Given the description of an element on the screen output the (x, y) to click on. 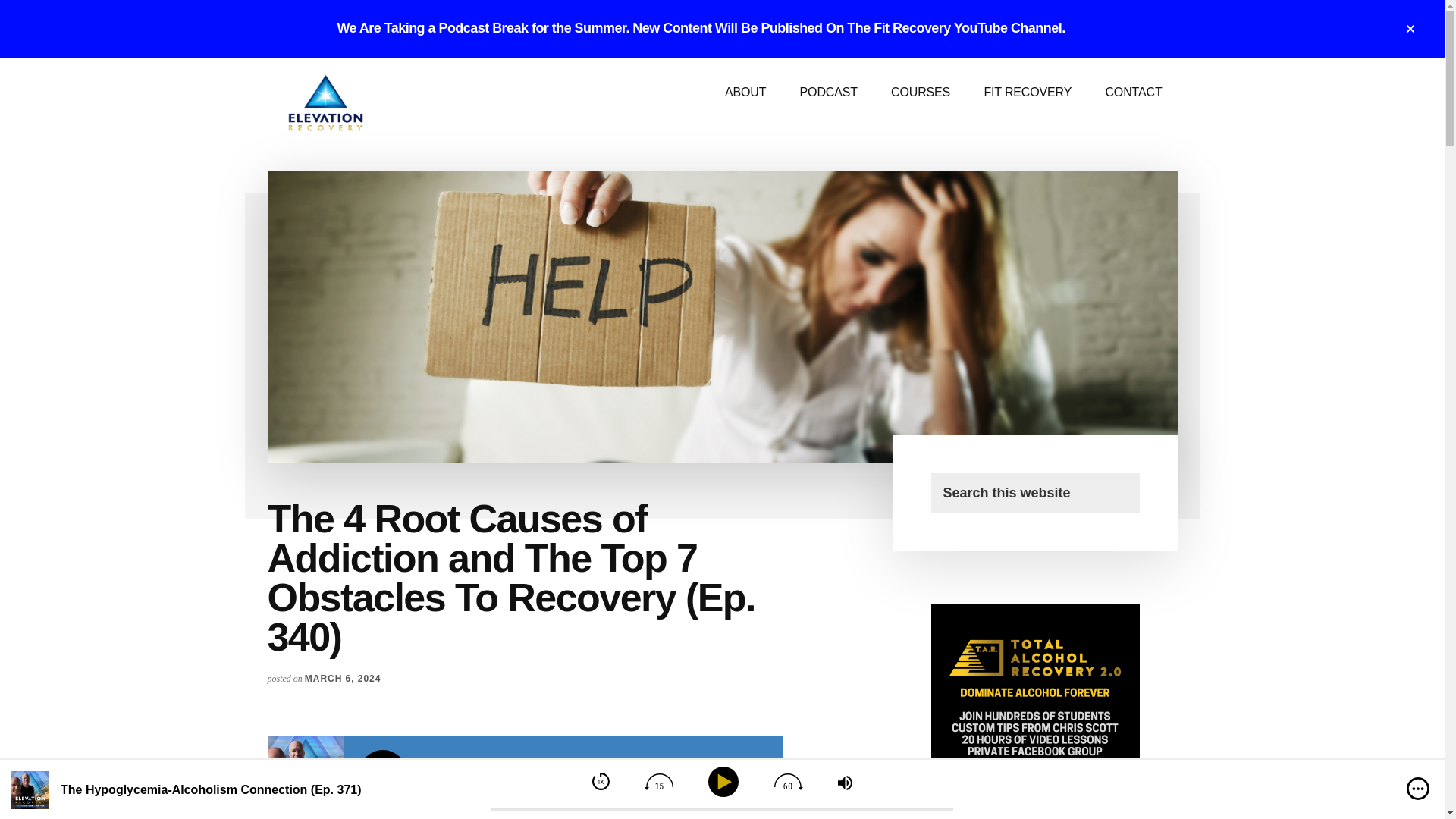
Speed: Normal (601, 781)
ABOUT (745, 92)
PODCAST (828, 92)
Download (726, 777)
More (754, 776)
CONTACT (1132, 92)
FIT RECOVERY (1027, 92)
Back 15 seconds (658, 781)
Download (724, 776)
Forward 60 seconds (788, 781)
COURSES (920, 92)
